Given the description of an element on the screen output the (x, y) to click on. 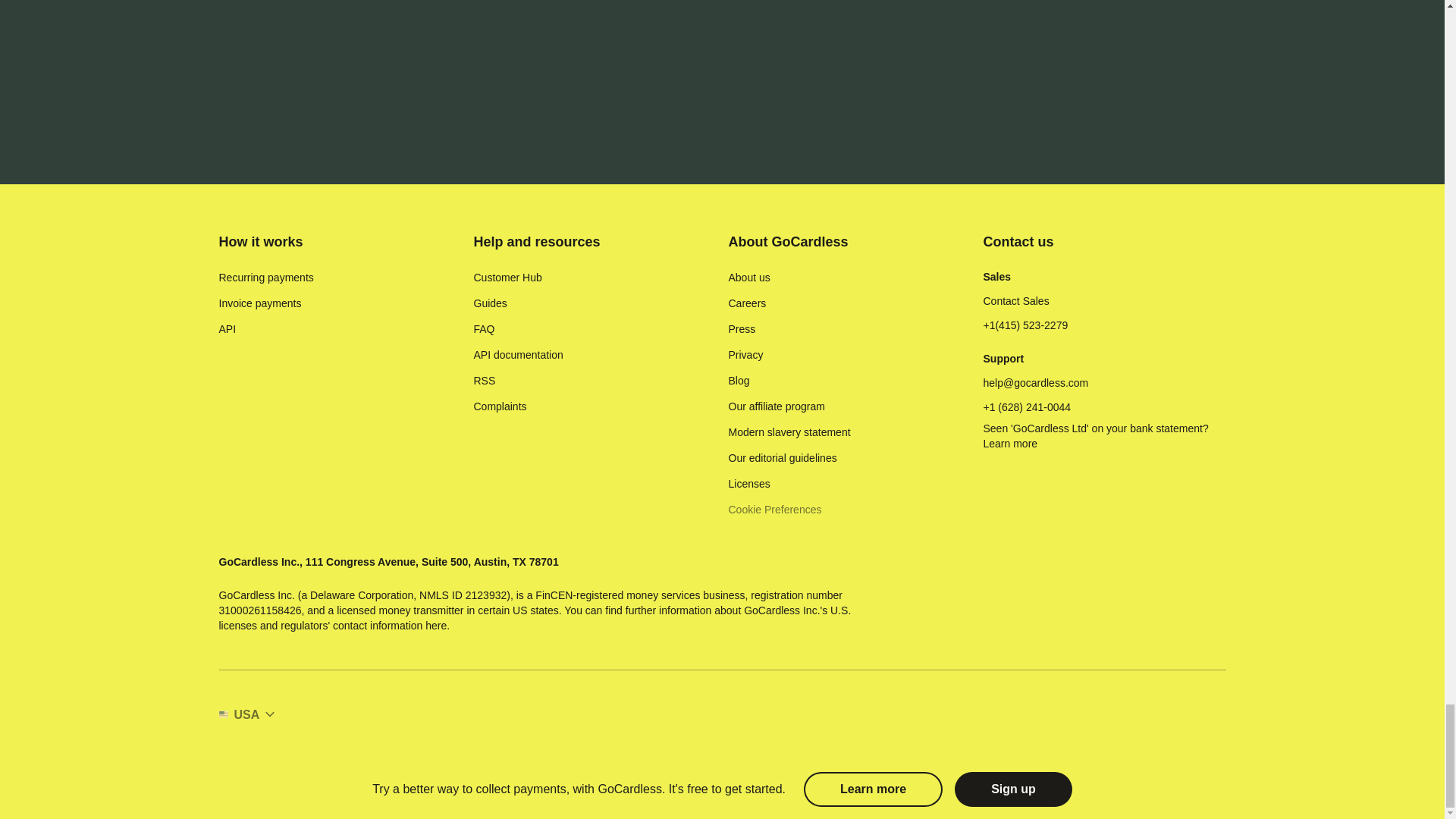
Recurring payments (265, 277)
Our editorial guidelines (781, 458)
Blog (738, 380)
Licenses (749, 483)
Customer Hub (507, 277)
API (226, 328)
Privacy (745, 354)
Careers (746, 303)
Press (741, 328)
Guides (489, 303)
Complaints (499, 406)
About us (749, 277)
RSS (484, 380)
FAQ (484, 328)
Our affiliate program (776, 406)
